Given the description of an element on the screen output the (x, y) to click on. 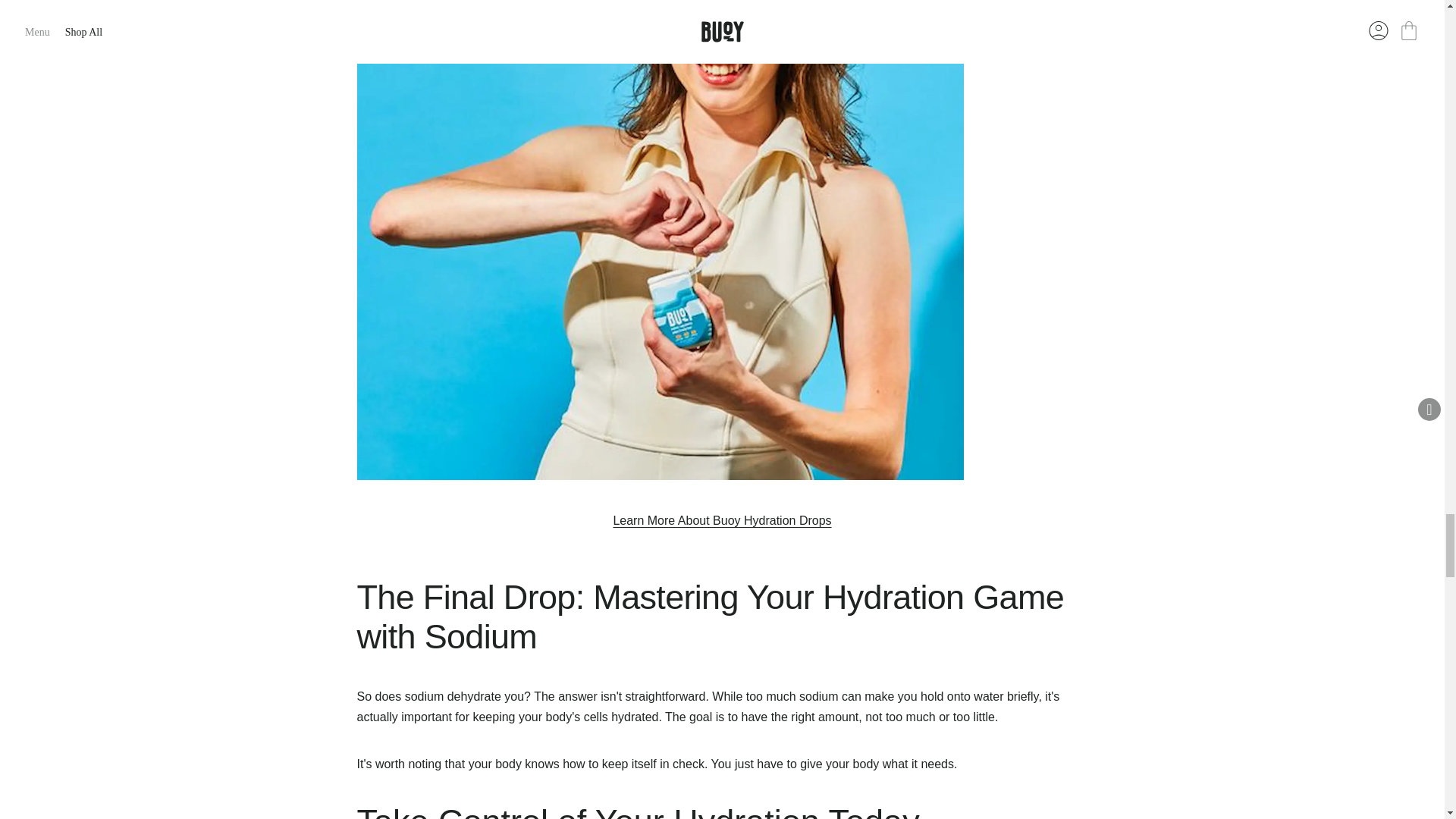
Learn More about Hydration Drops (721, 520)
